Given the description of an element on the screen output the (x, y) to click on. 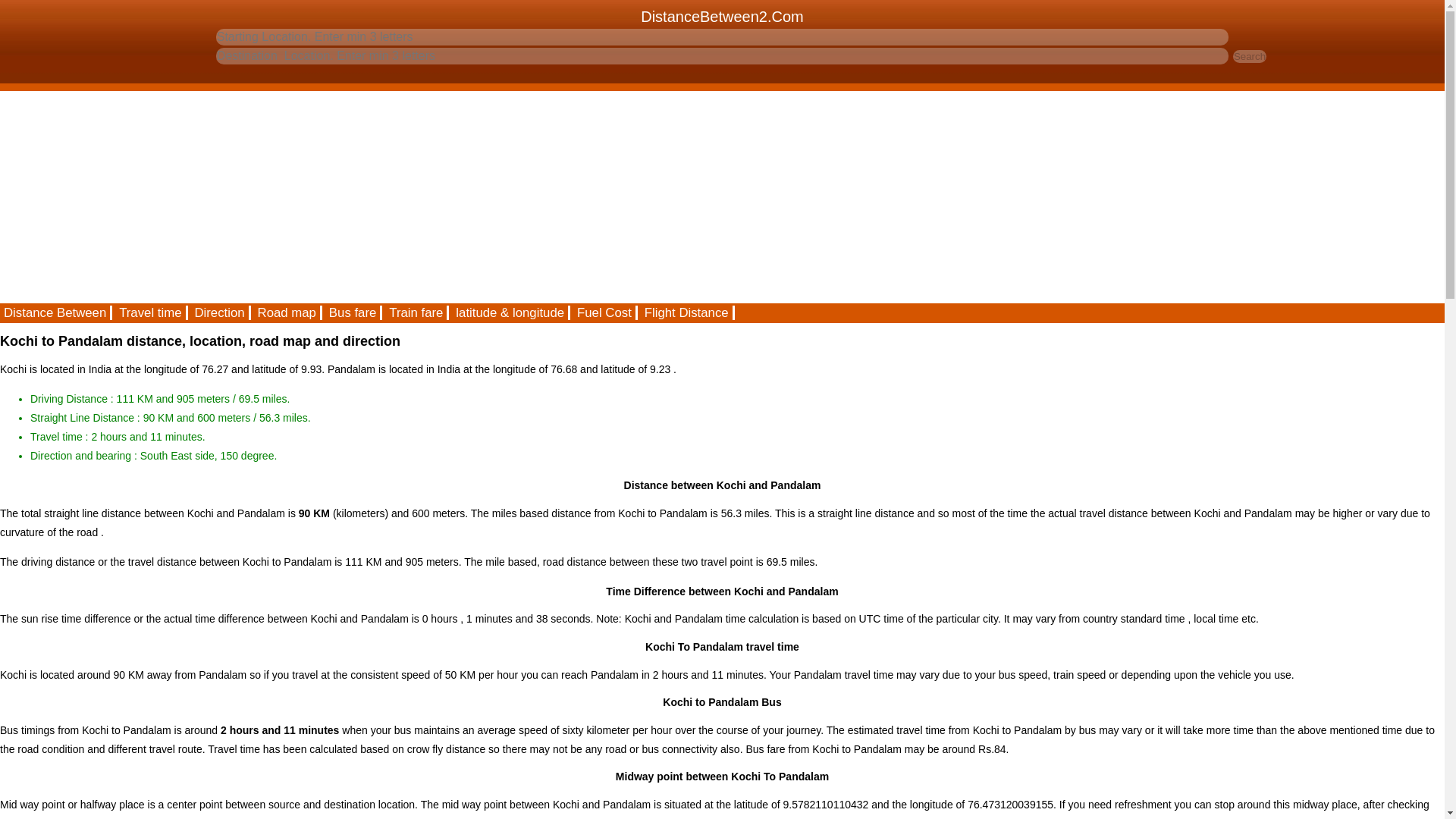
Road map (287, 312)
Direction (220, 312)
Train fare (416, 312)
Flight Distance (687, 312)
driving direction (220, 312)
Distance Between (56, 312)
Search (1249, 56)
Search (1249, 56)
Bus fare (353, 312)
